Given the description of an element on the screen output the (x, y) to click on. 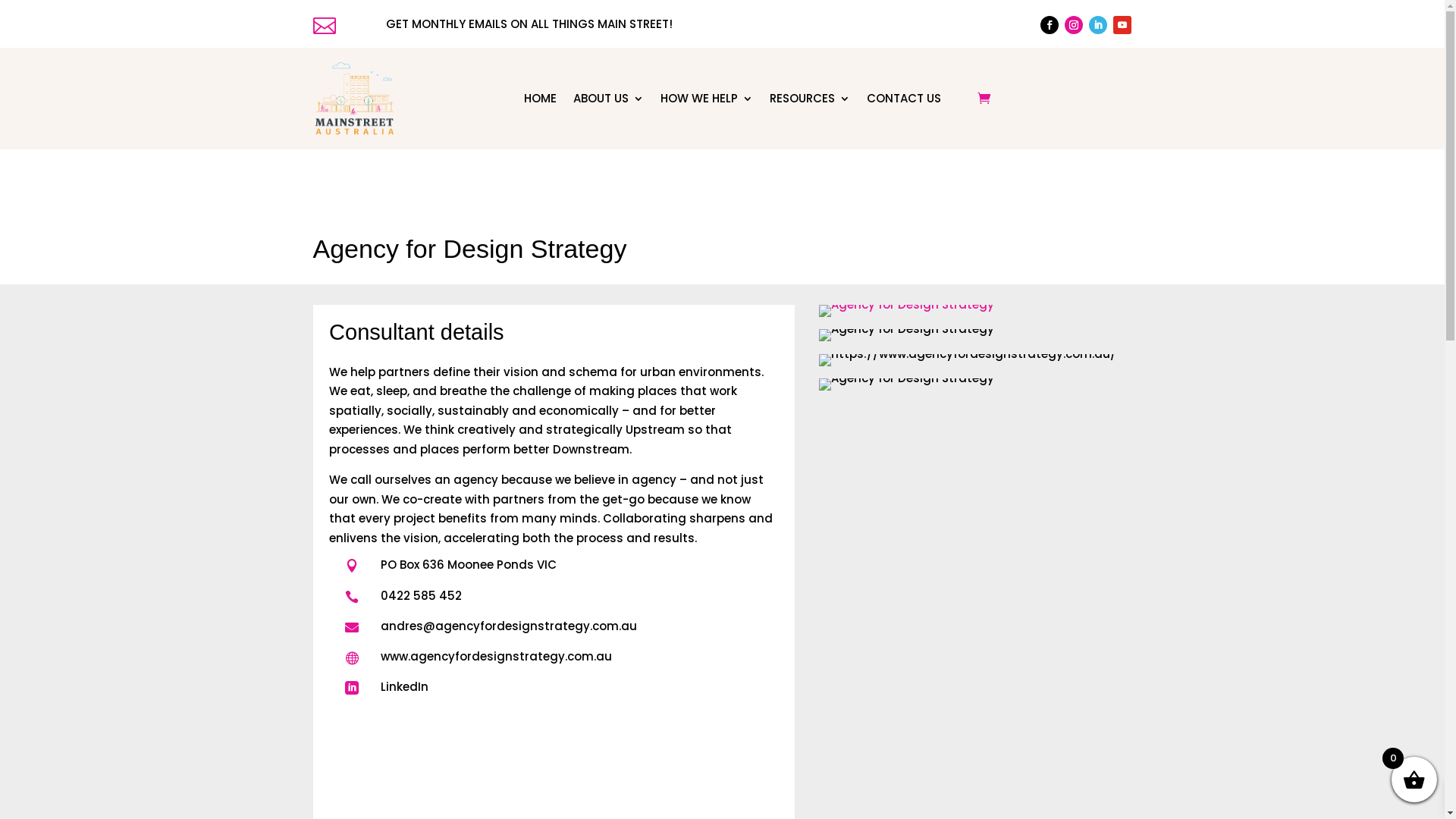
HOW WE HELP Element type: text (706, 98)
RESOURCES Element type: text (809, 98)
HOME Element type: text (540, 98)
Follow on Instagram Element type: hover (1073, 24)
Agency for Design Strategy Element type: hover (906, 310)
https://www.agencyfordesignstrategy.com.au/ Element type: hover (967, 360)
0422 585 452 Element type: text (420, 595)
Follow on Facebook Element type: hover (1049, 24)
CONTACT US Element type: text (903, 98)
www.agencyfordesignstrategy.com.au Element type: text (495, 656)
LinkedIn Element type: text (404, 686)
Follow on LinkedIn Element type: hover (1097, 24)
Agency for Design Strategy Element type: hover (906, 384)
Agency for Design Strategy Element type: hover (906, 335)
Follow on Youtube Element type: hover (1122, 24)
ABOUT US Element type: text (608, 98)
andres@agencyfordesignstrategy.com.au Element type: text (508, 625)
